Given the description of an element on the screen output the (x, y) to click on. 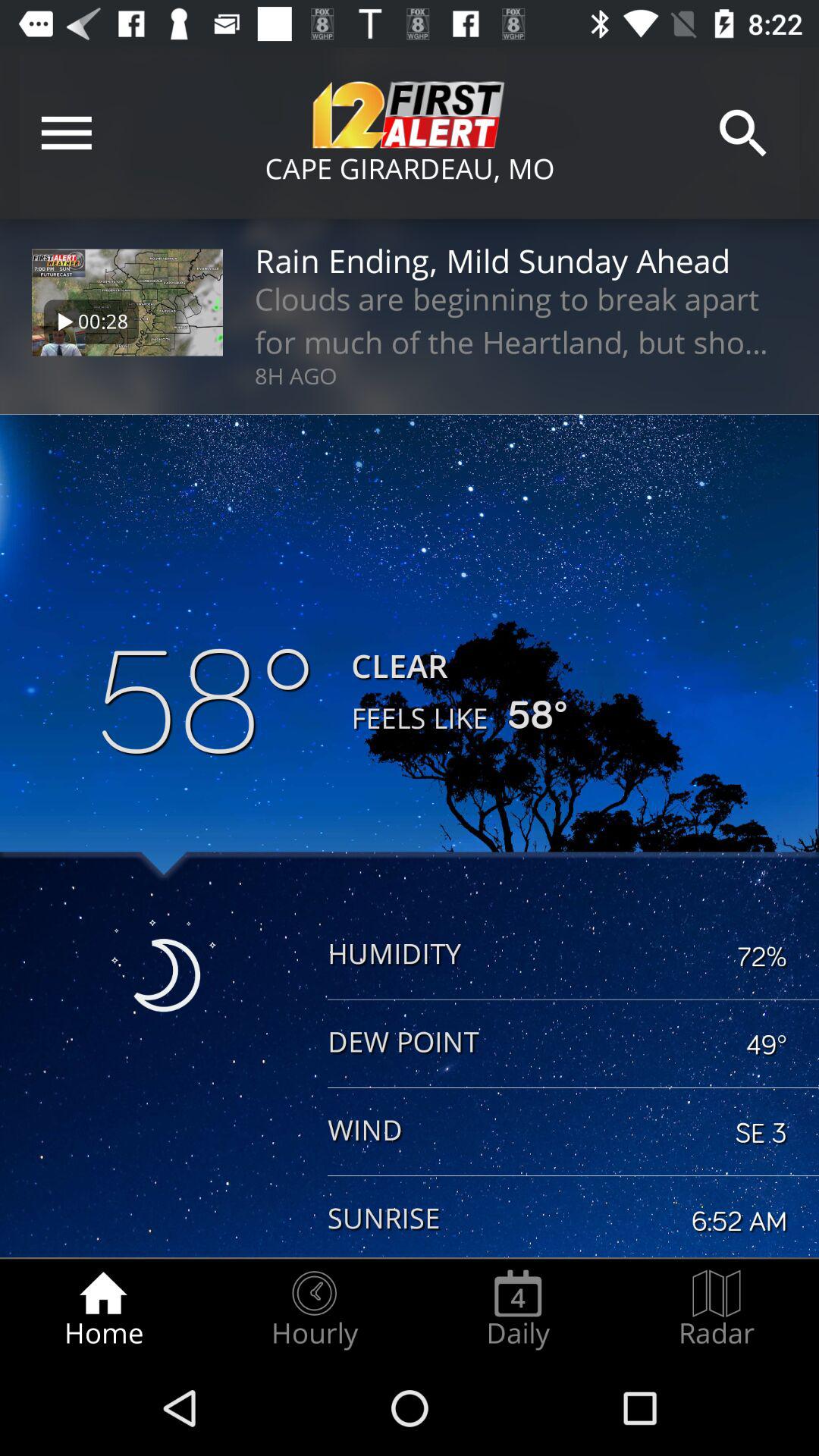
select item to the right of hourly item (518, 1309)
